Given the description of an element on the screen output the (x, y) to click on. 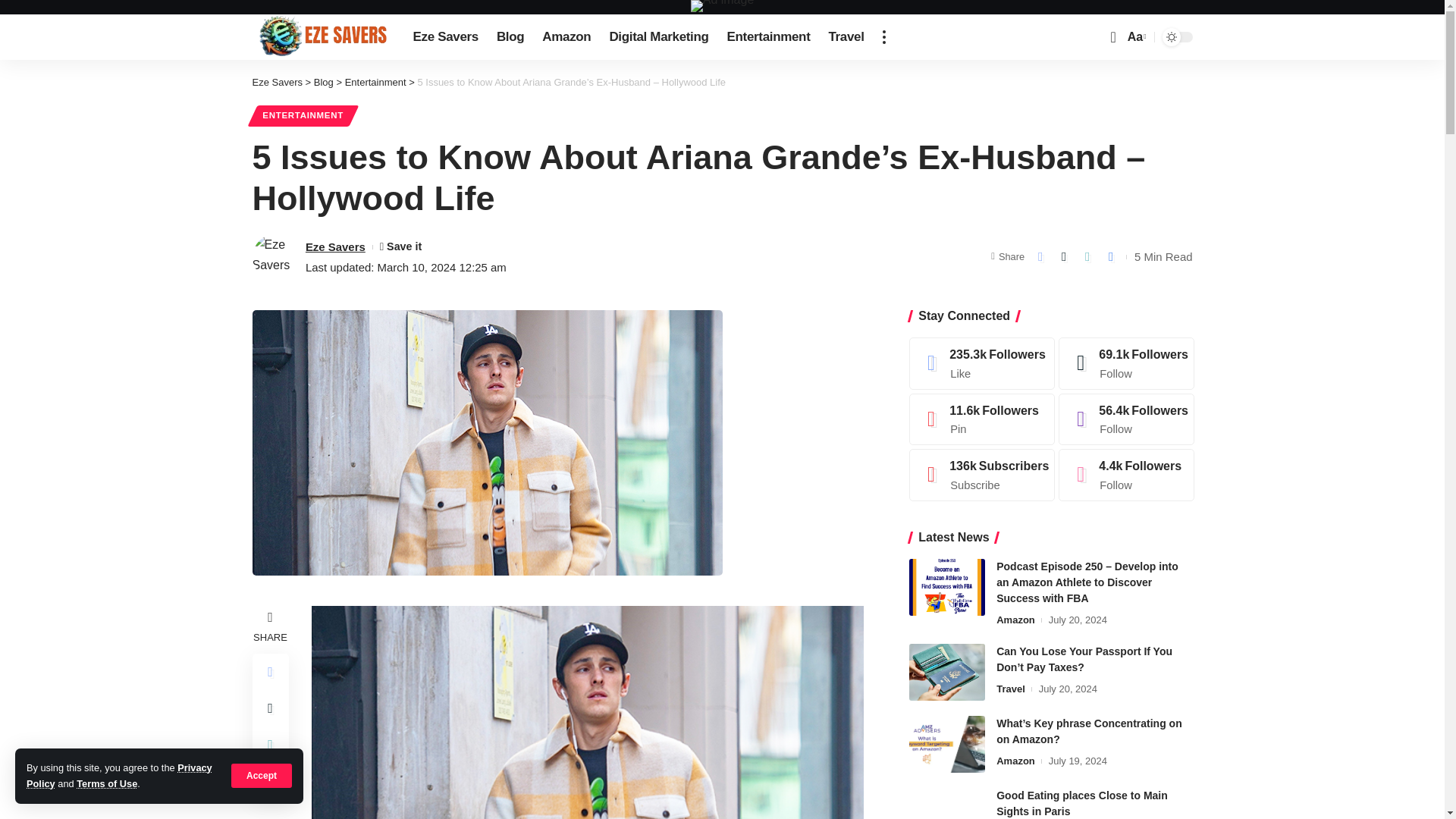
Blog (1135, 36)
Entertainment (323, 81)
Accept (375, 81)
Blog (261, 775)
Eze Savers (509, 36)
Amazon (319, 36)
Travel (565, 36)
Privacy Policy (845, 36)
ENTERTAINMENT (119, 775)
Go to Blog. (302, 115)
Eze Savers (323, 81)
Go to the Entertainment Category archives. (276, 81)
Eze Savers (375, 81)
Go to Eze Savers. (444, 36)
